Given the description of an element on the screen output the (x, y) to click on. 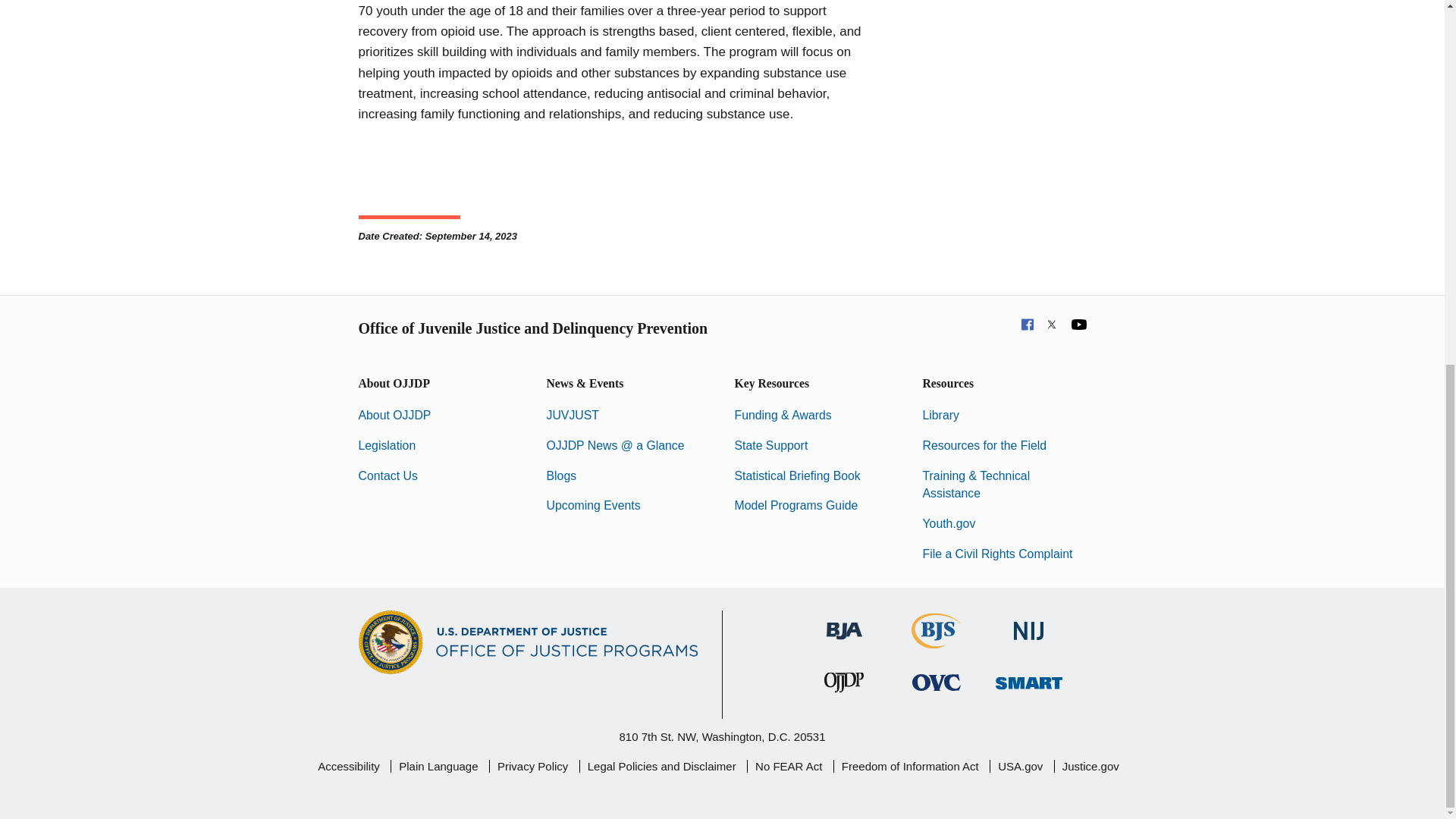
Legislation (386, 445)
About OJJDP (394, 414)
Contact Us (387, 475)
